Given the description of an element on the screen output the (x, y) to click on. 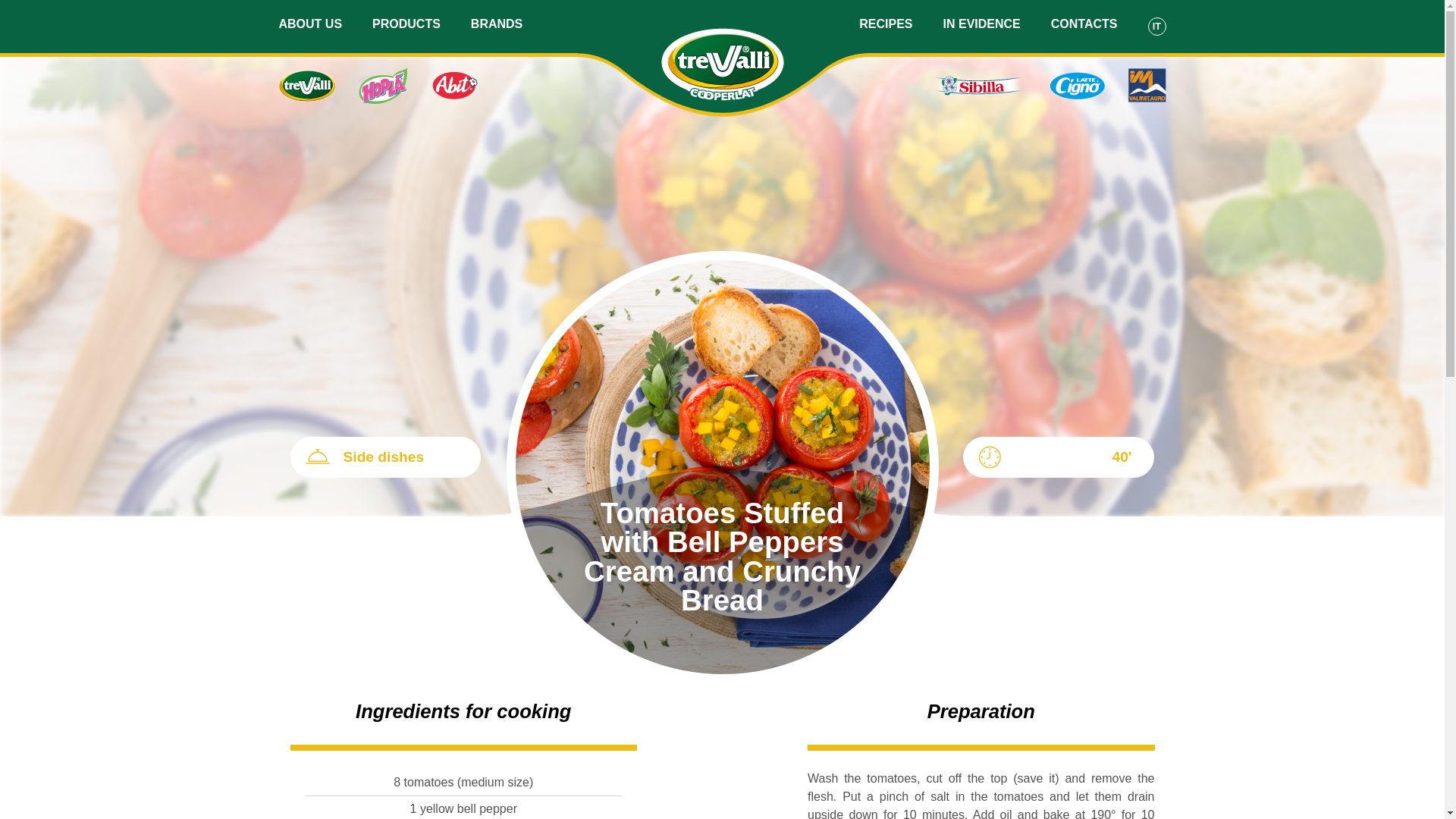
ABOUT US (310, 23)
IN EVIDENCE (981, 23)
PRODUCTS (406, 23)
CONTACTS (1084, 23)
BRANDS (496, 23)
RECIPES (885, 23)
IT (1157, 26)
